Given the description of an element on the screen output the (x, y) to click on. 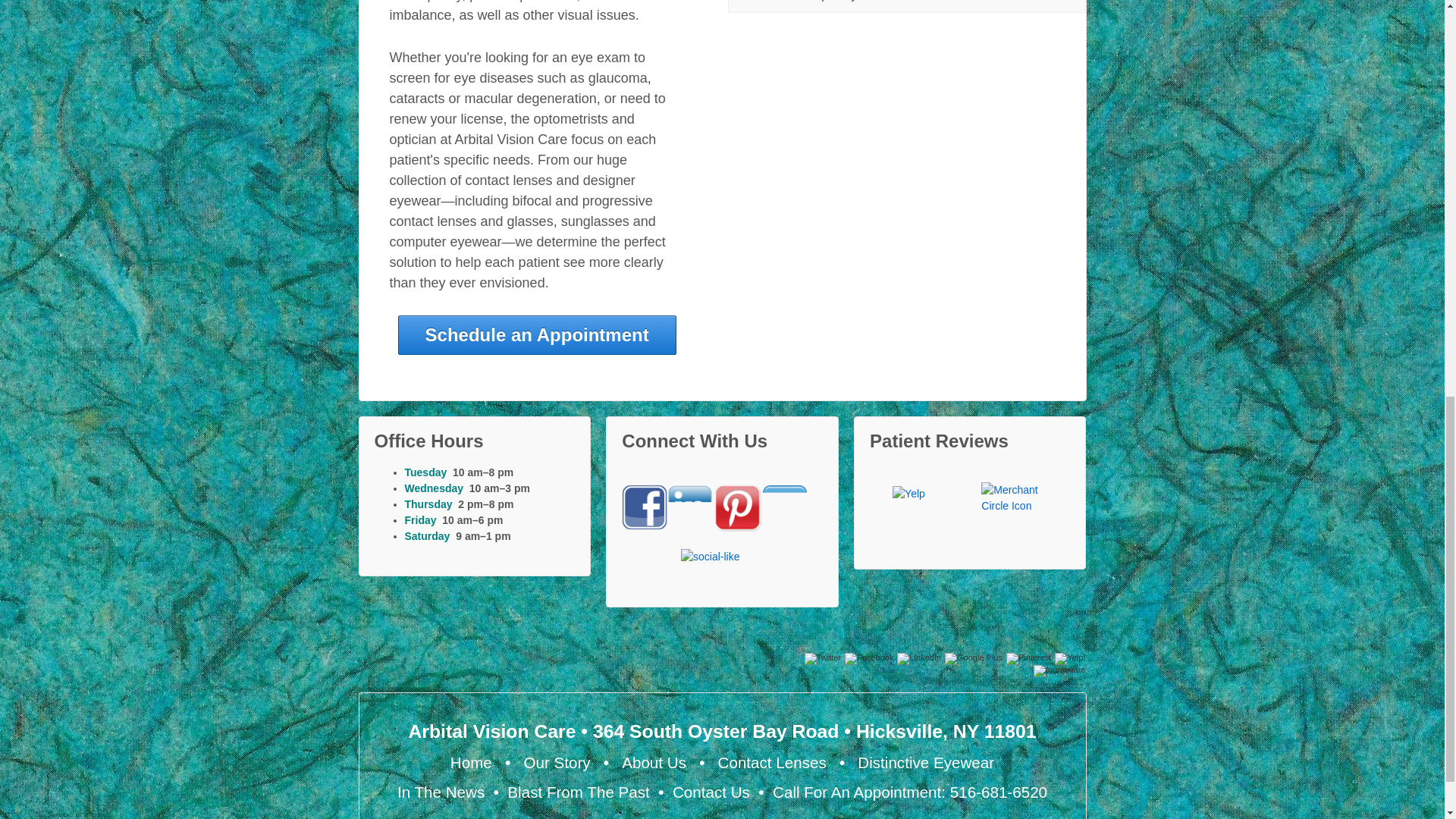
About Us (653, 762)
Contact Lenses (772, 762)
Home (470, 762)
Facebook Like (721, 561)
Contact Us (710, 791)
About Us (653, 762)
Distinctive Eyewear (925, 762)
Our Story (555, 762)
Distinctive Eyewear (925, 762)
Call For An Appointment: 516-681-6520 (909, 791)
